Given the description of an element on the screen output the (x, y) to click on. 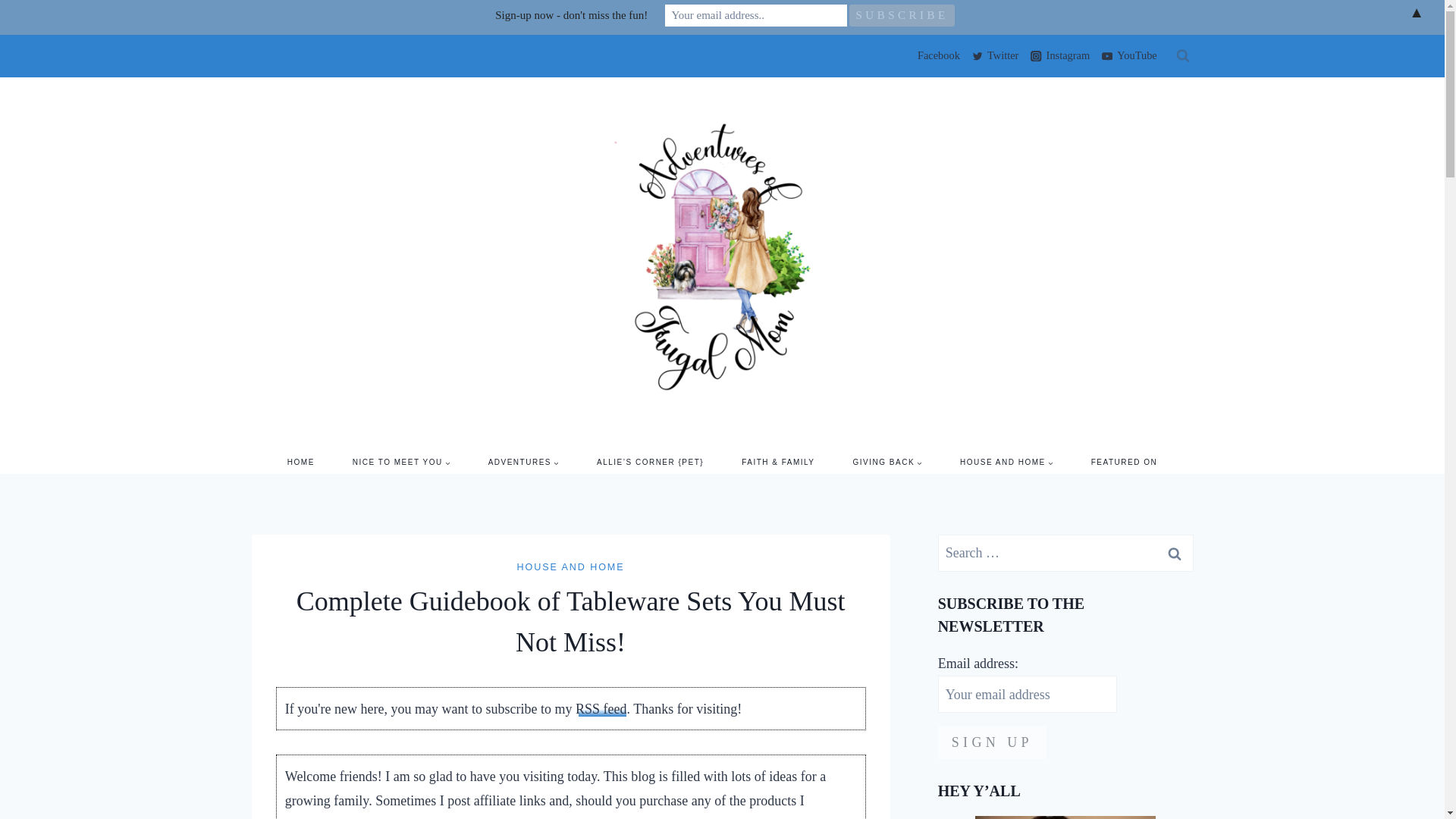
FEATURED ON (1123, 462)
Subscribe (901, 15)
Facebook (935, 56)
ADVENTURES (523, 462)
Instagram (1059, 56)
Sign up (991, 742)
HOUSE AND HOME (1005, 462)
NICE TO MEET YOU (400, 462)
GIVING BACK (888, 462)
YouTube (1128, 56)
Search (1174, 552)
Twitter (995, 56)
Search (1174, 552)
HOME (300, 462)
